Given the description of an element on the screen output the (x, y) to click on. 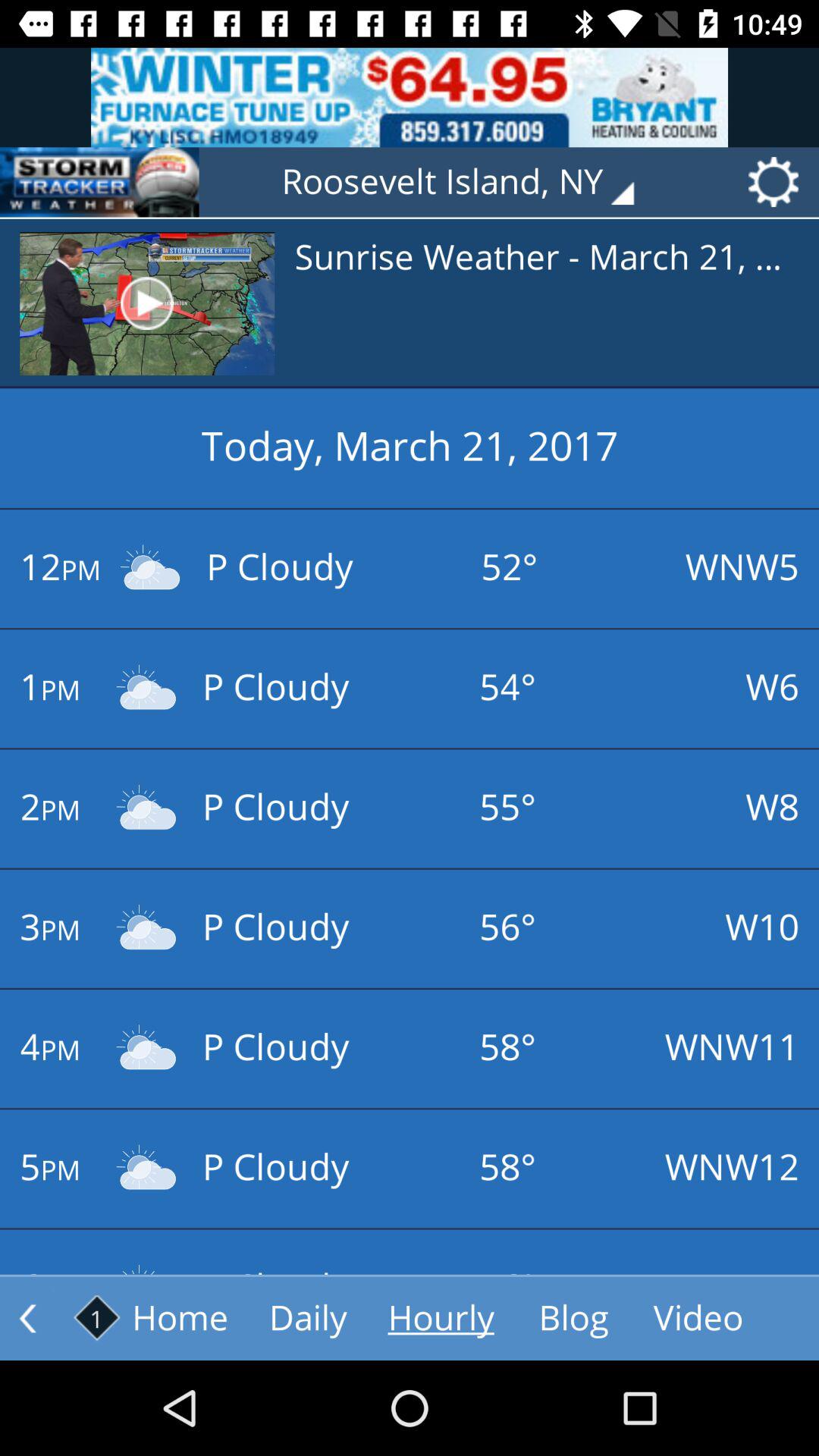
select the icon next to the roosevelt island, ny icon (99, 182)
